Given the description of an element on the screen output the (x, y) to click on. 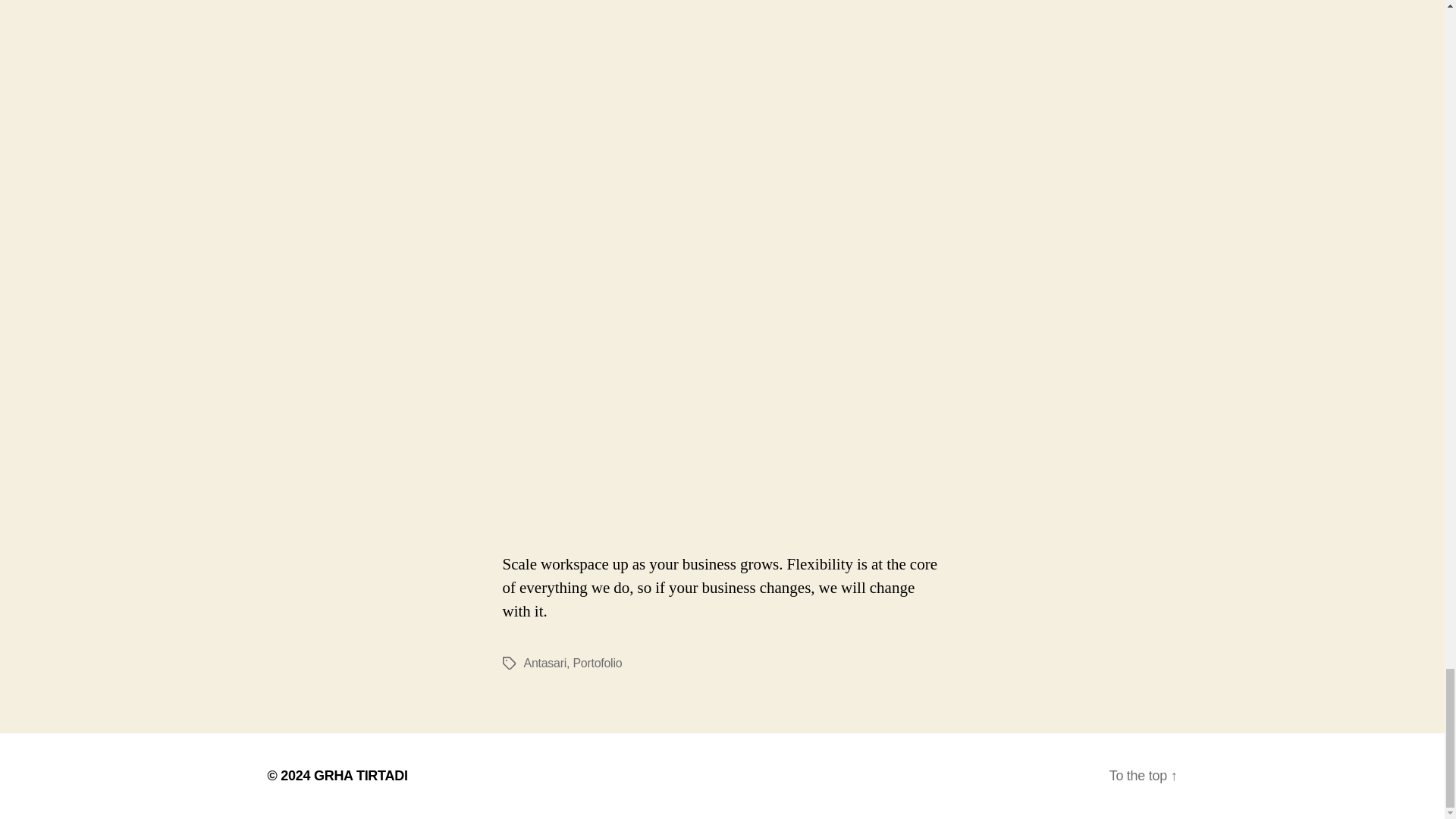
Antasari (544, 662)
Portofolio (596, 662)
GRHA TIRTADI (360, 775)
